Given the description of an element on the screen output the (x, y) to click on. 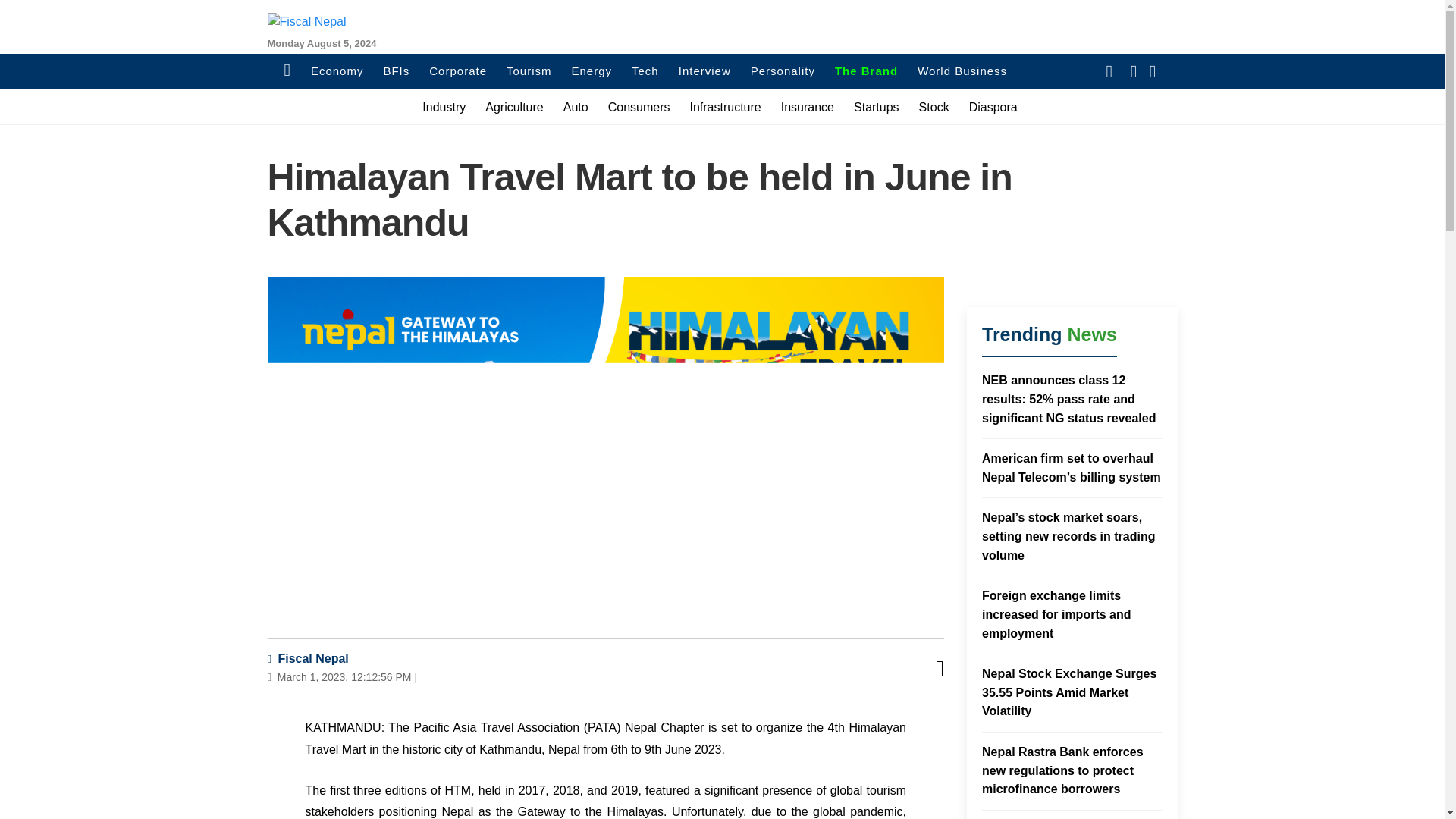
Energy (592, 71)
Tech (645, 71)
Personality (782, 71)
Startups (876, 106)
Economy (336, 71)
Tourism (529, 71)
Corporate (458, 71)
Industry (443, 106)
Stock (933, 106)
Fiscal Nepal (306, 658)
World Business (962, 71)
Consumers (638, 106)
The Brand (866, 71)
Agriculture (513, 106)
Auto (575, 106)
